Given the description of an element on the screen output the (x, y) to click on. 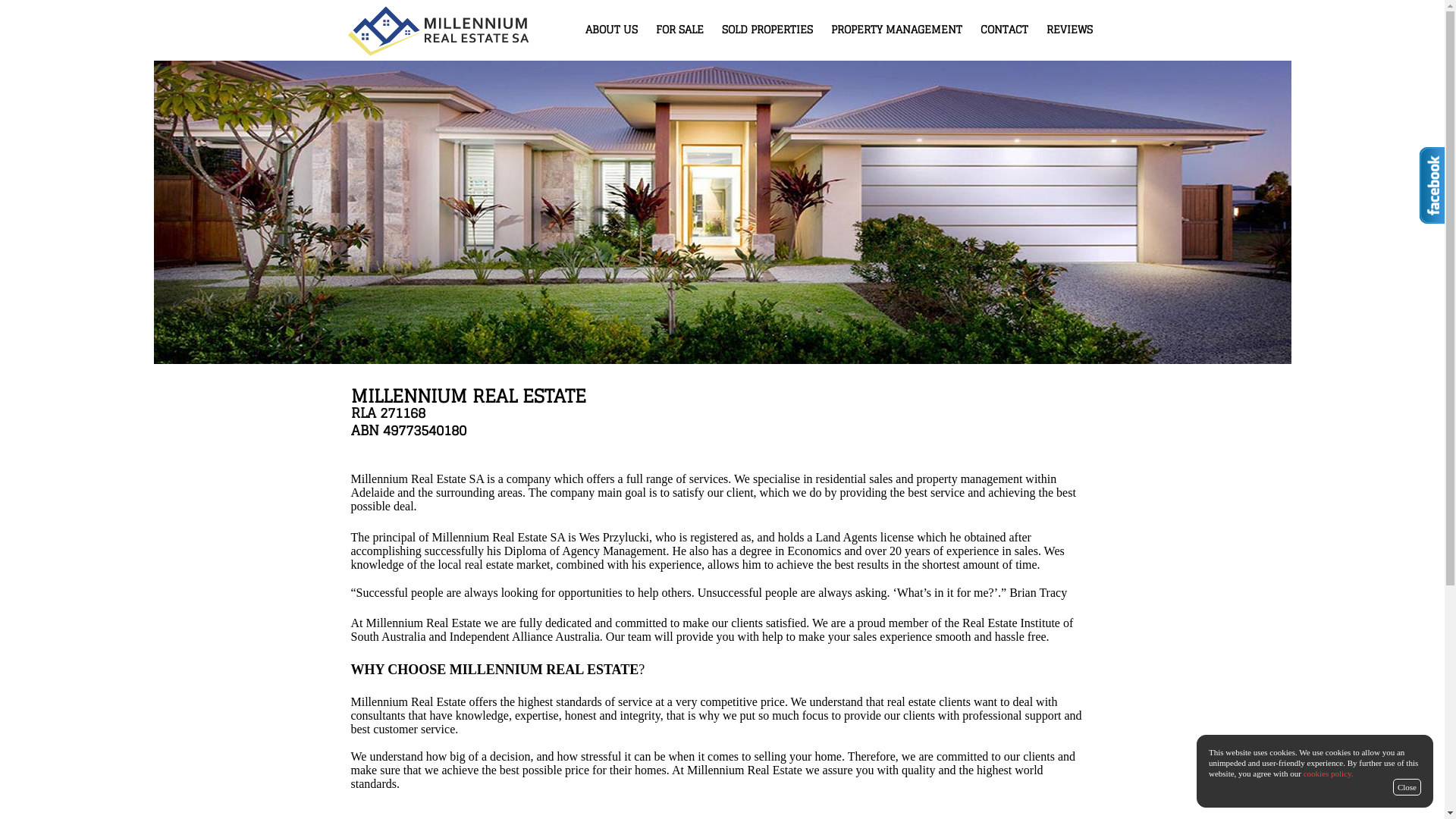
Close Element type: text (1407, 786)
REVIEWS Element type: text (1069, 28)
PROPERTY MANAGEMENT Element type: text (896, 28)
SOLD PROPERTIES Element type: text (767, 28)
CONTACT Element type: text (1003, 28)
FOR SALE Element type: text (679, 28)
ABOUT US Element type: text (611, 28)
cookies policy. Element type: text (1328, 773)
